Given the description of an element on the screen output the (x, y) to click on. 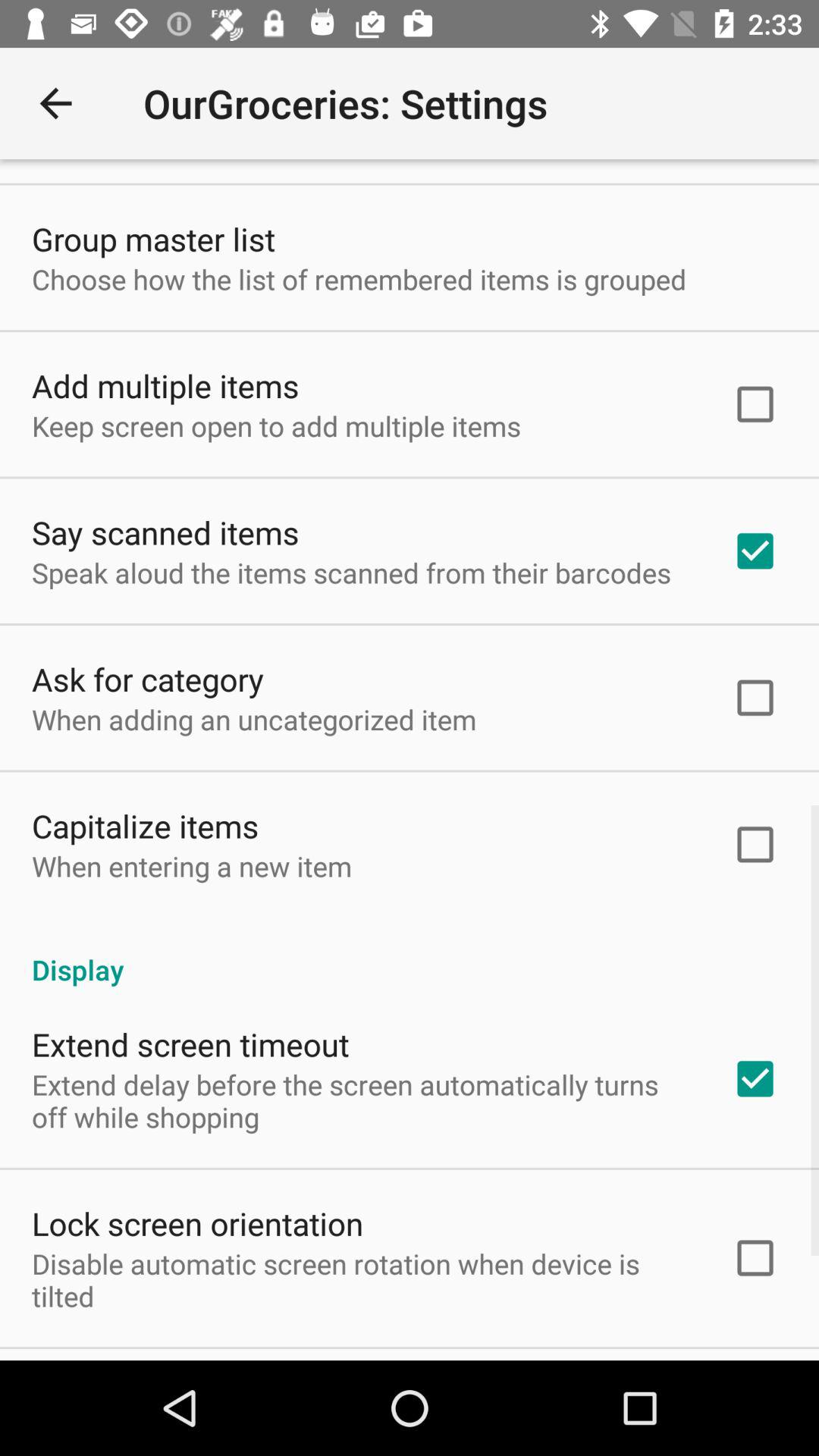
open the icon below say scanned items (351, 572)
